Given the description of an element on the screen output the (x, y) to click on. 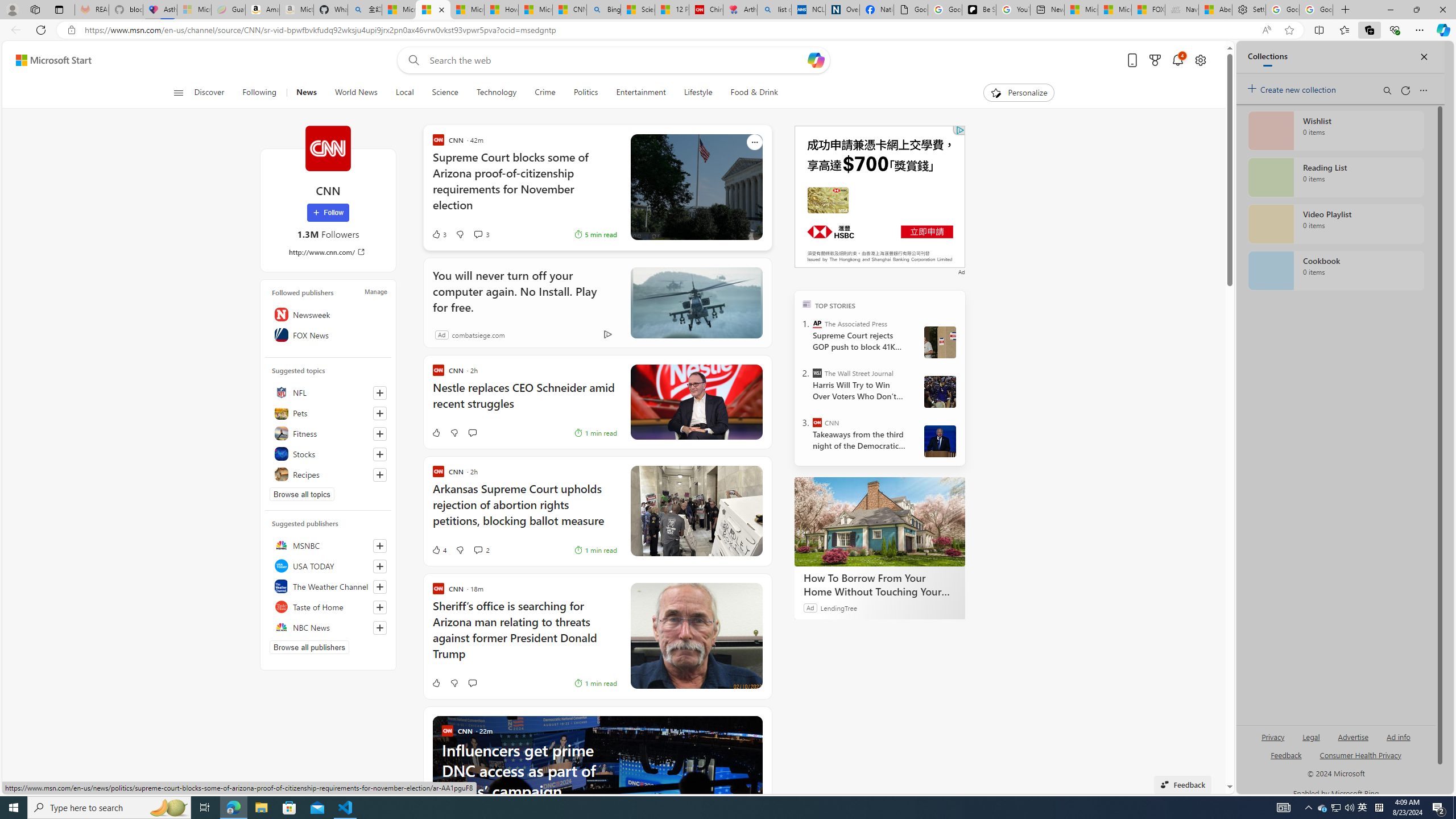
http://www.cnn.com/ (327, 251)
Following (259, 92)
CNN - MSN (569, 9)
